Given the description of an element on the screen output the (x, y) to click on. 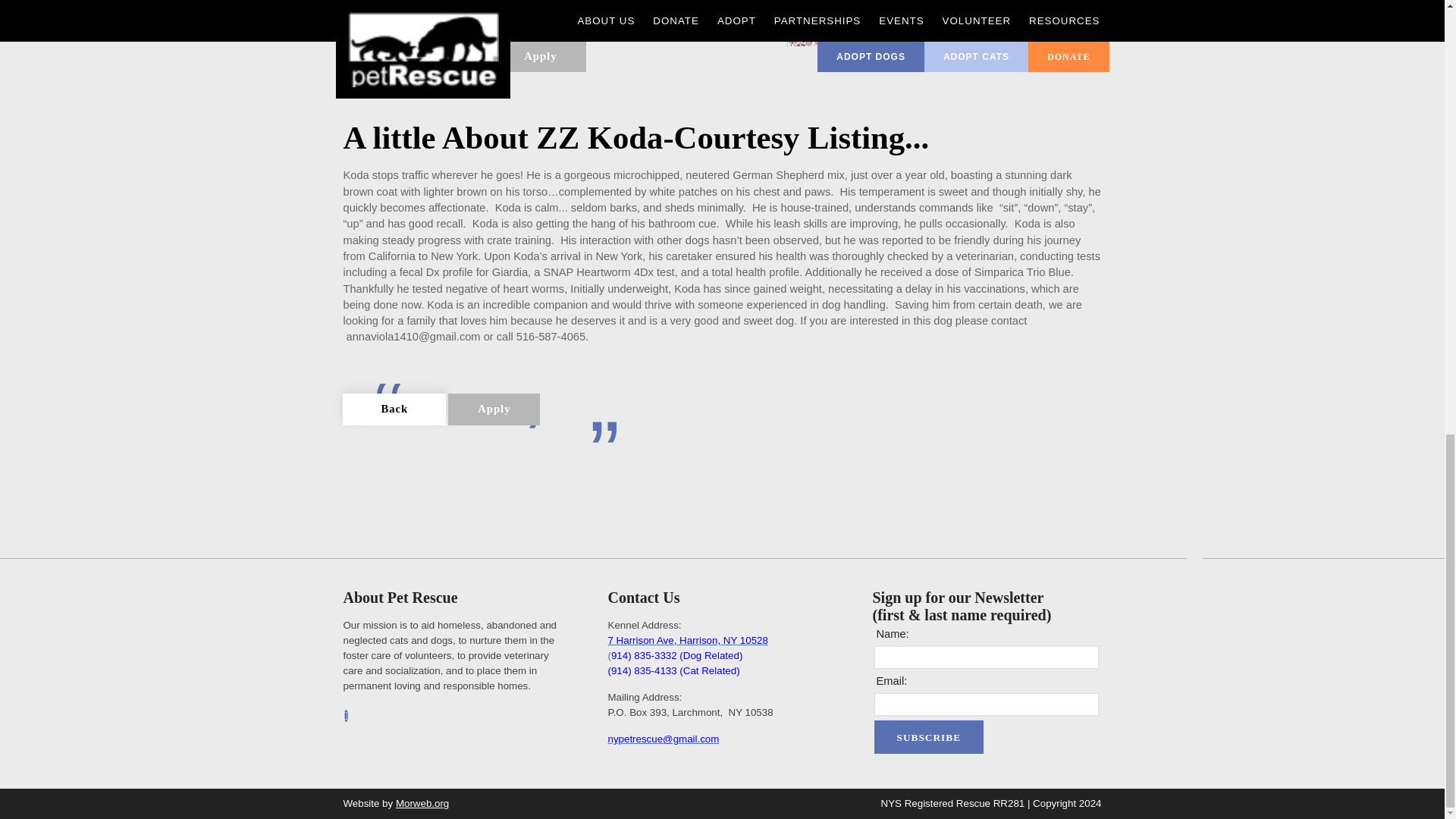
Email (985, 703)
Subscribe (928, 736)
Name (985, 657)
